Given the description of an element on the screen output the (x, y) to click on. 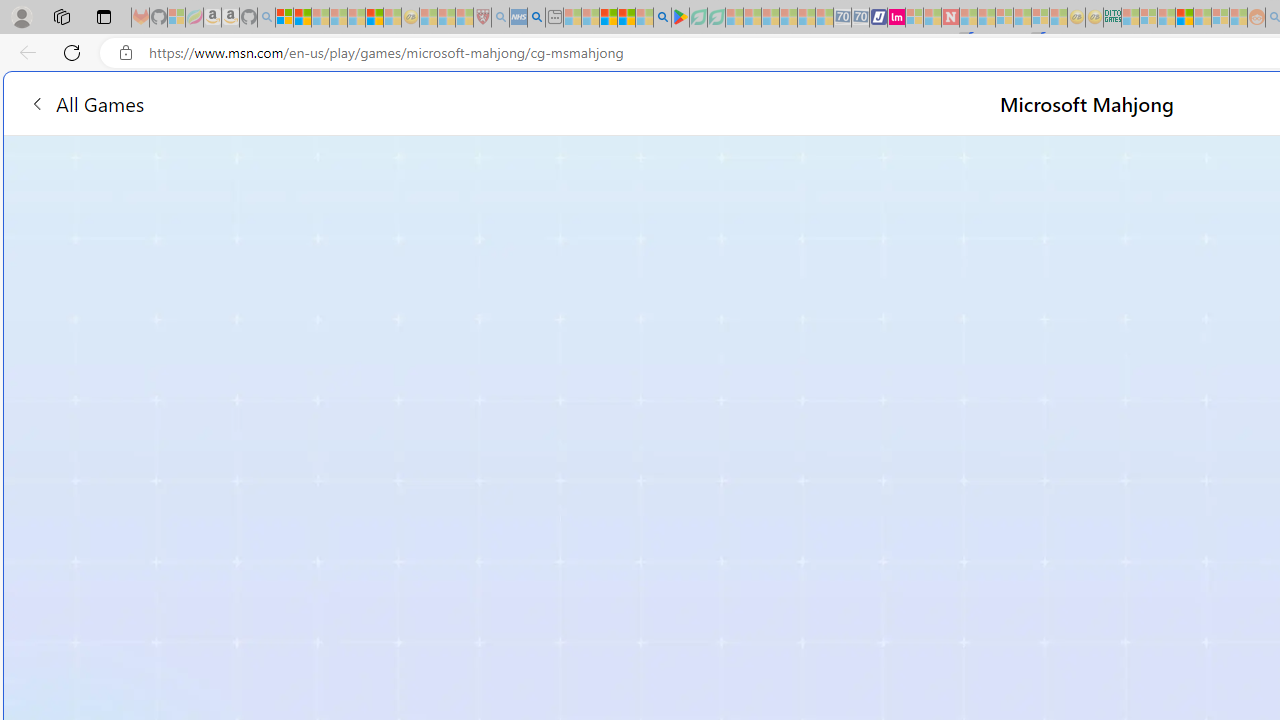
utah sues federal government - Search (536, 17)
Jobs - lastminute.com Investor Portal (896, 17)
